Given the description of an element on the screen output the (x, y) to click on. 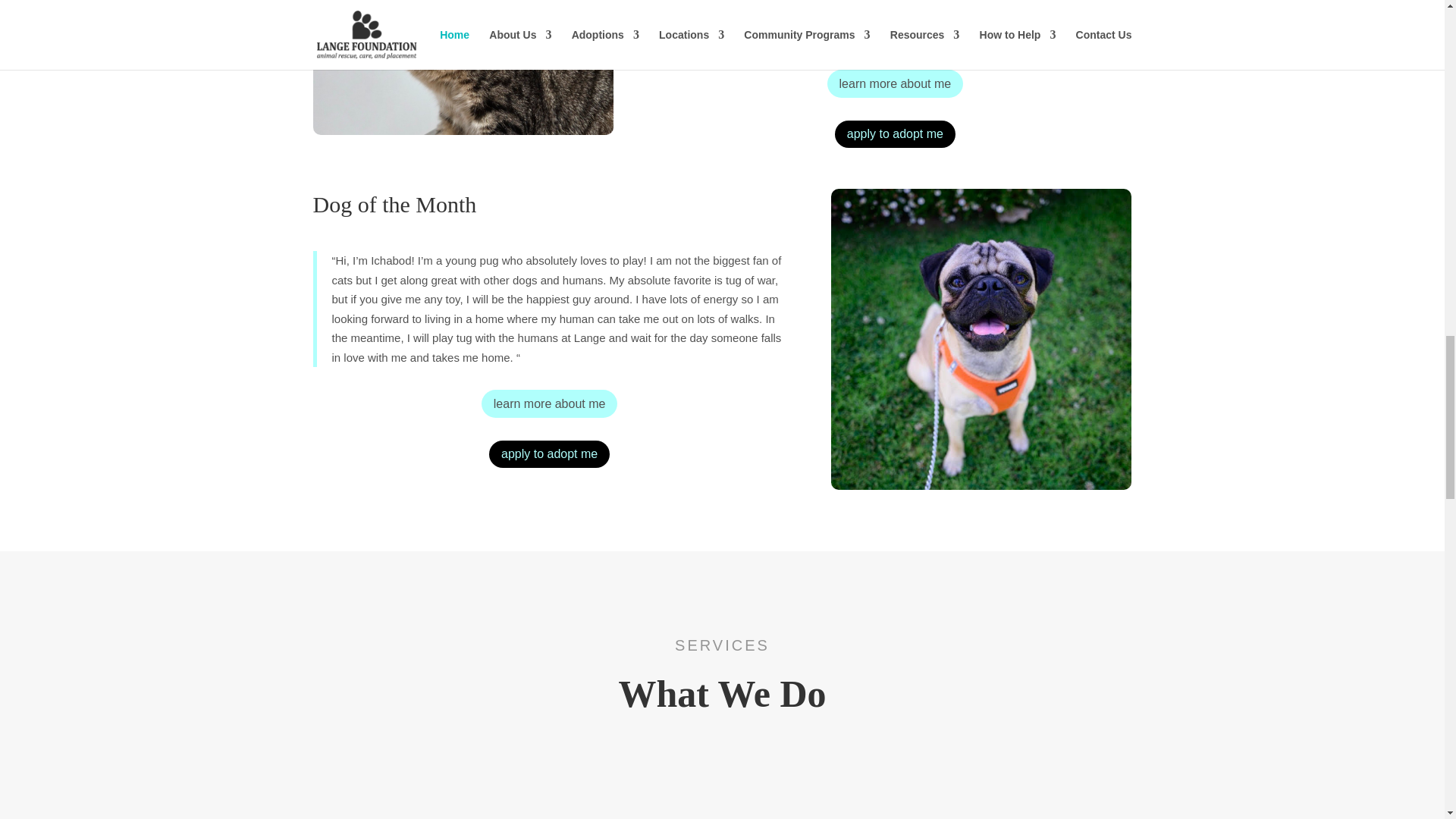
learn more about me (895, 83)
apply to adopt me (894, 134)
apply to adopt me (549, 454)
Ichabod (981, 338)
learn more about me (549, 403)
